Given the description of an element on the screen output the (x, y) to click on. 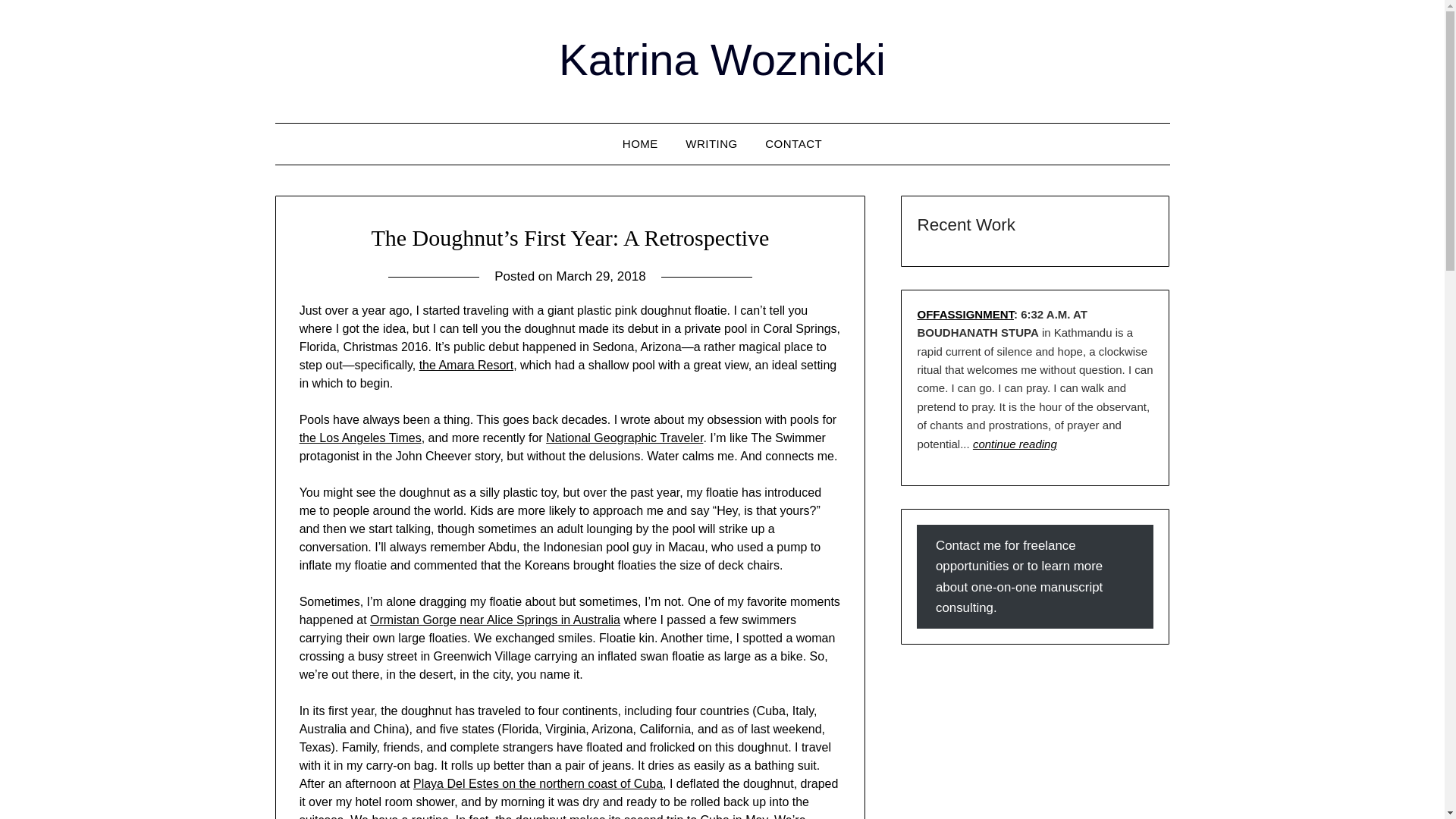
Ormistan Gorge near Alice Springs in Australia (494, 619)
the Los Angeles Times (360, 437)
HOME (639, 143)
March 29, 2018 (600, 276)
Katrina Woznicki (722, 59)
CONTACT (793, 143)
the Amara Resort (466, 364)
OFFASSIGNMENT (965, 314)
WRITING (710, 143)
Katrina Communications (639, 143)
Playa Del Estes on the northern coast of Cuba (537, 783)
National Geographic Traveler (624, 437)
continue reading (1014, 443)
